Given the description of an element on the screen output the (x, y) to click on. 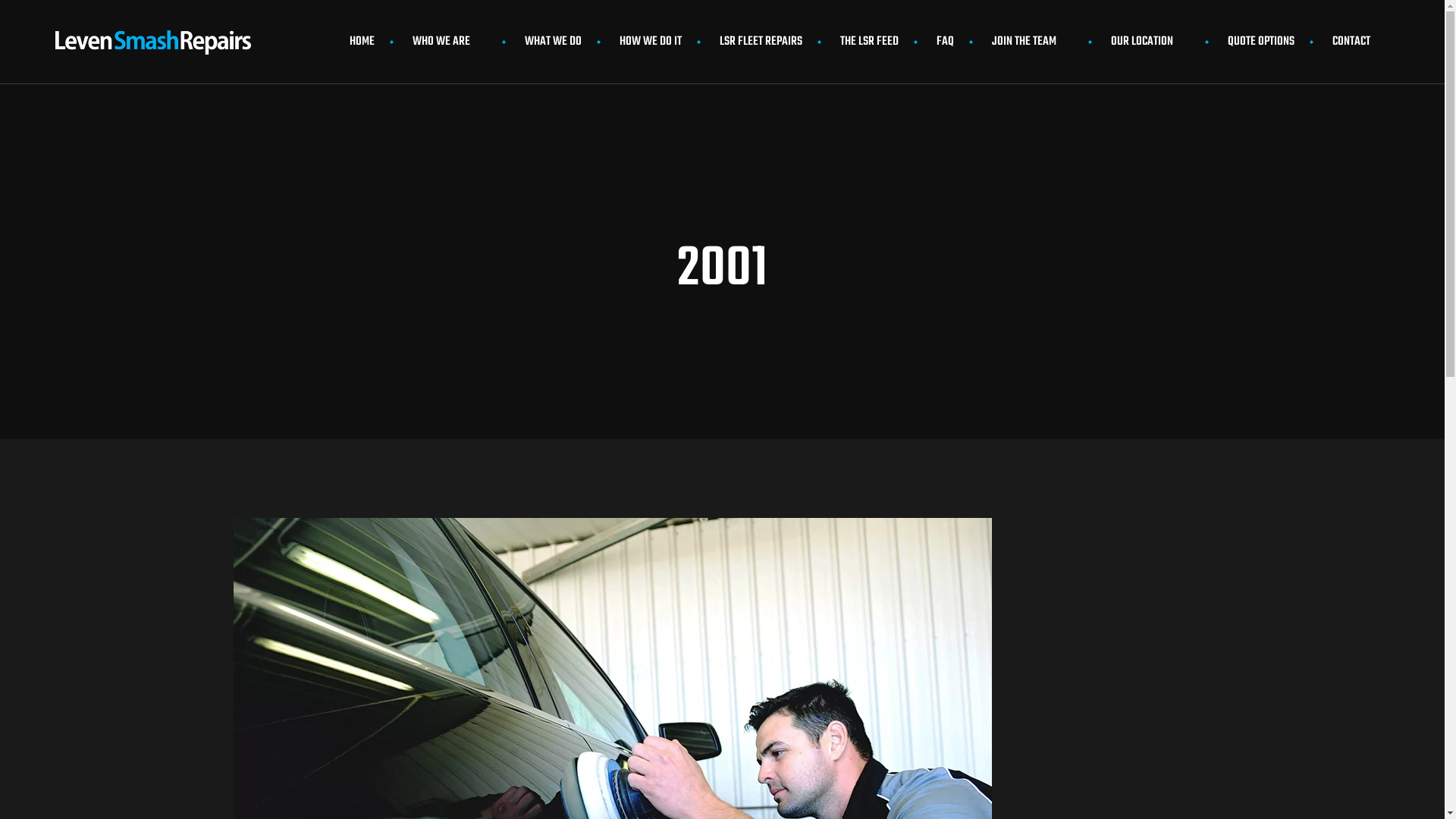
FAQ Element type: text (944, 41)
JOIN THE TEAM Element type: text (1032, 41)
CONTACT Element type: text (1351, 41)
LSR FLEET REPAIRS Element type: text (760, 41)
QUOTE OPTIONS Element type: text (1260, 41)
THE LSR FEED Element type: text (869, 41)
HOME Element type: text (361, 41)
WHAT WE DO Element type: text (552, 41)
WHO WE ARE Element type: text (449, 41)
OUR LOCATION Element type: text (1150, 41)
HOW WE DO IT Element type: text (650, 41)
